Given the description of an element on the screen output the (x, y) to click on. 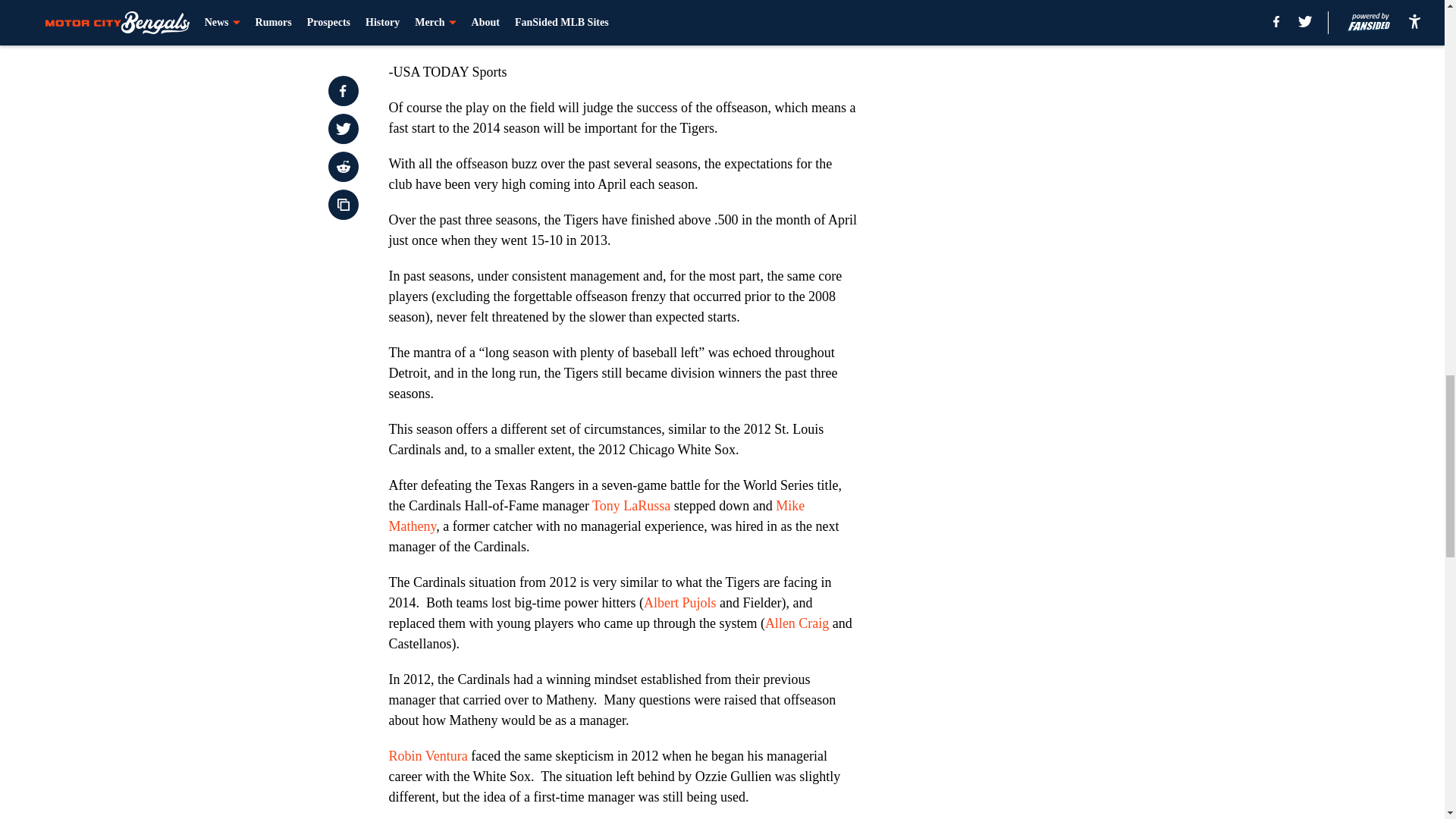
Mike Matheny (596, 515)
Tony LaRussa (630, 505)
David Manning (431, 36)
